Given the description of an element on the screen output the (x, y) to click on. 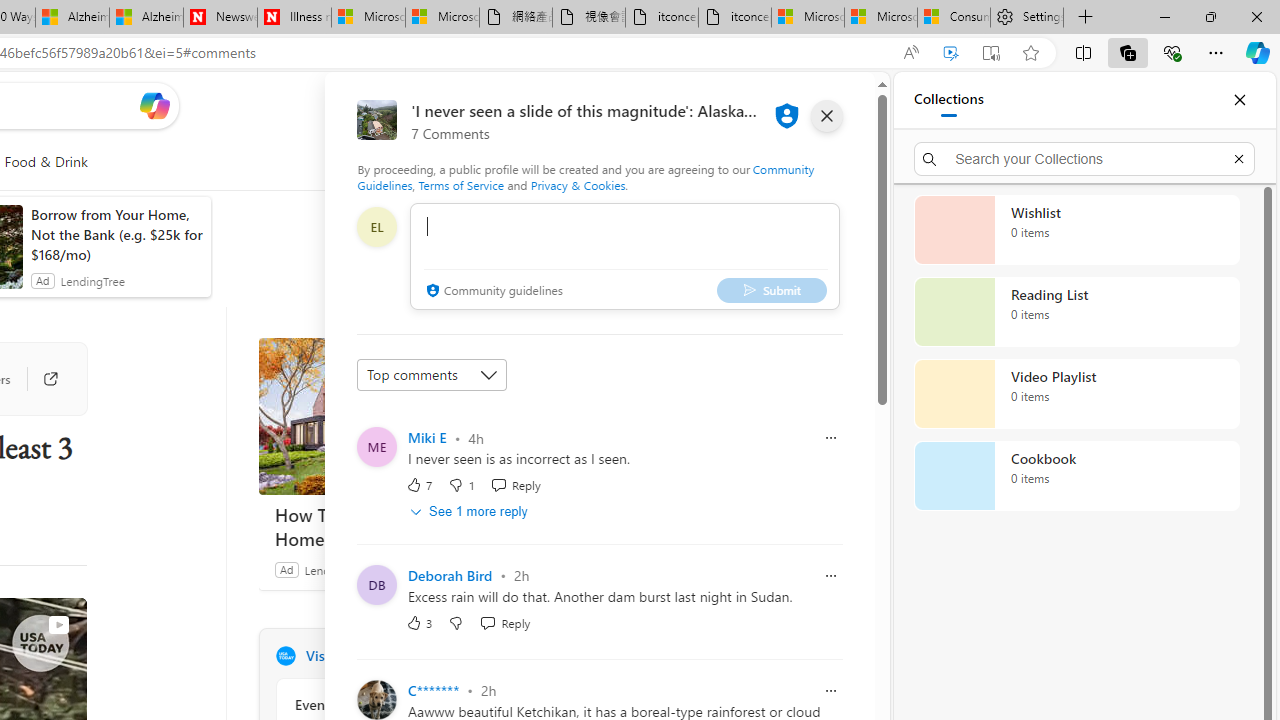
Community guidelines (492, 291)
Reply Reply Comment (505, 622)
Report comment (831, 690)
Video Playlist collection, 0 items (1076, 394)
Visit USA TODAY website (532, 655)
See 1 more reply (470, 511)
Personalize (511, 162)
